Given the description of an element on the screen output the (x, y) to click on. 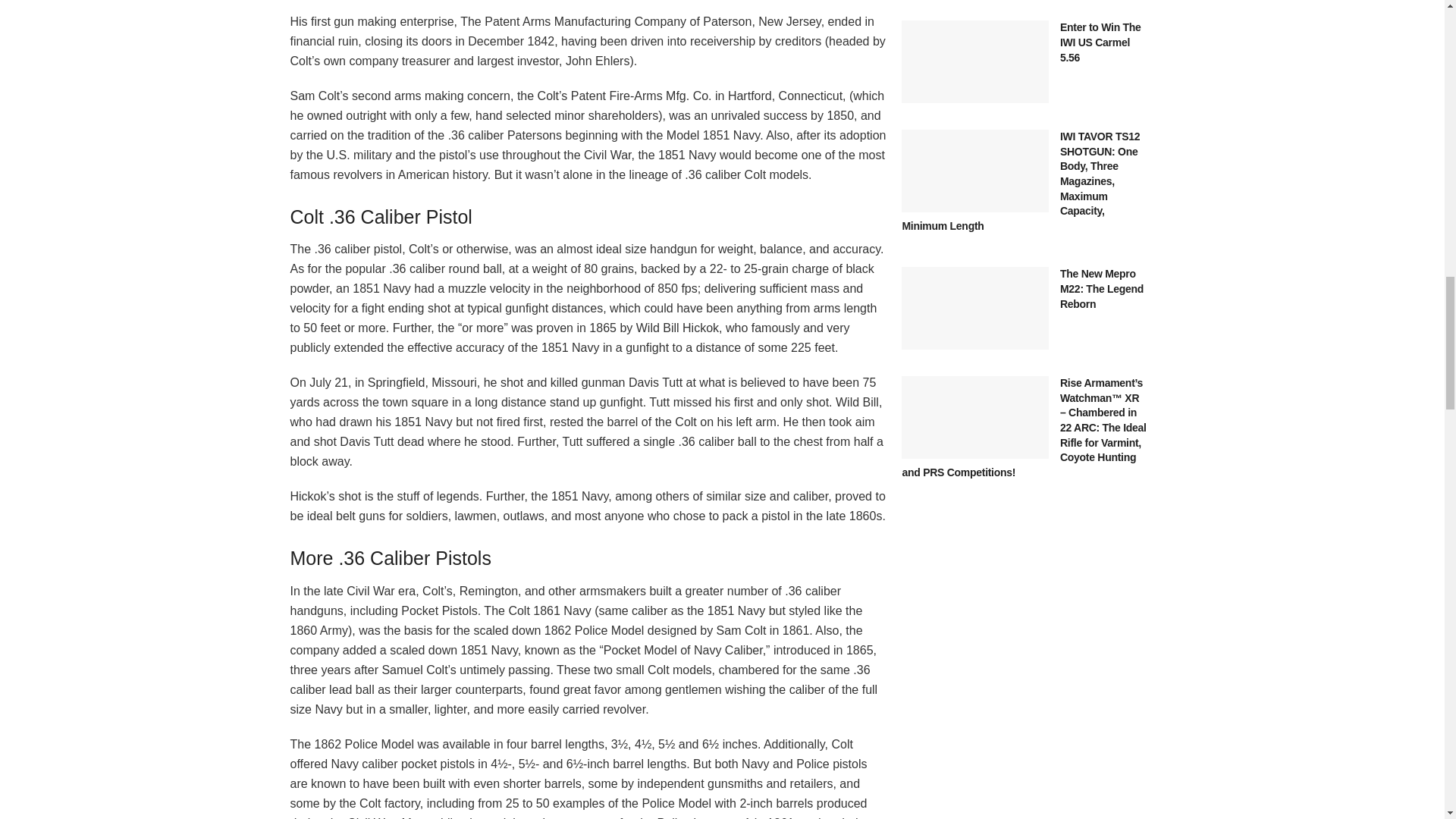
3rd party ad content (1024, 638)
3rd party ad content (1024, 791)
